Given the description of an element on the screen output the (x, y) to click on. 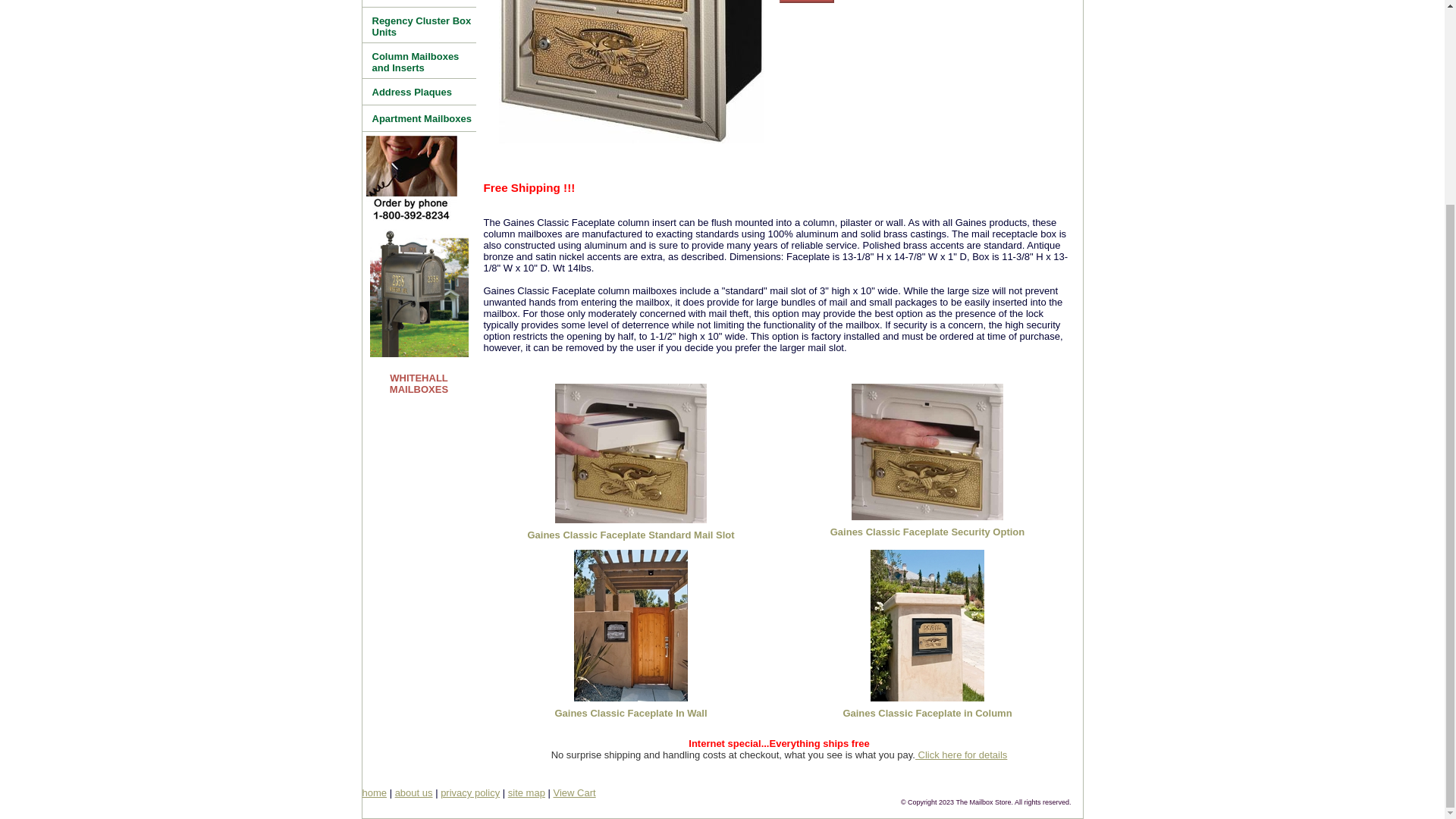
Gaines Classic Faceplate Standard Mail Slot (630, 534)
Address Plaques (419, 91)
Gaines Classic Faceplate Security Option (927, 452)
View Cart (574, 792)
Gaines Classic Faceplate In Wall (630, 713)
about us (413, 792)
Gaines Classic Faceplate Standard Mail Slot (630, 534)
Click here for details (961, 754)
Address Plaques (419, 91)
Gaines Classic Faceplate Security Option (927, 531)
Apartment Mailboxes (419, 118)
Gaines Classic Faceplate In Wall (630, 713)
Add to cart (806, 1)
Add to cart (806, 1)
Cluster Box Units (419, 3)
